Given the description of an element on the screen output the (x, y) to click on. 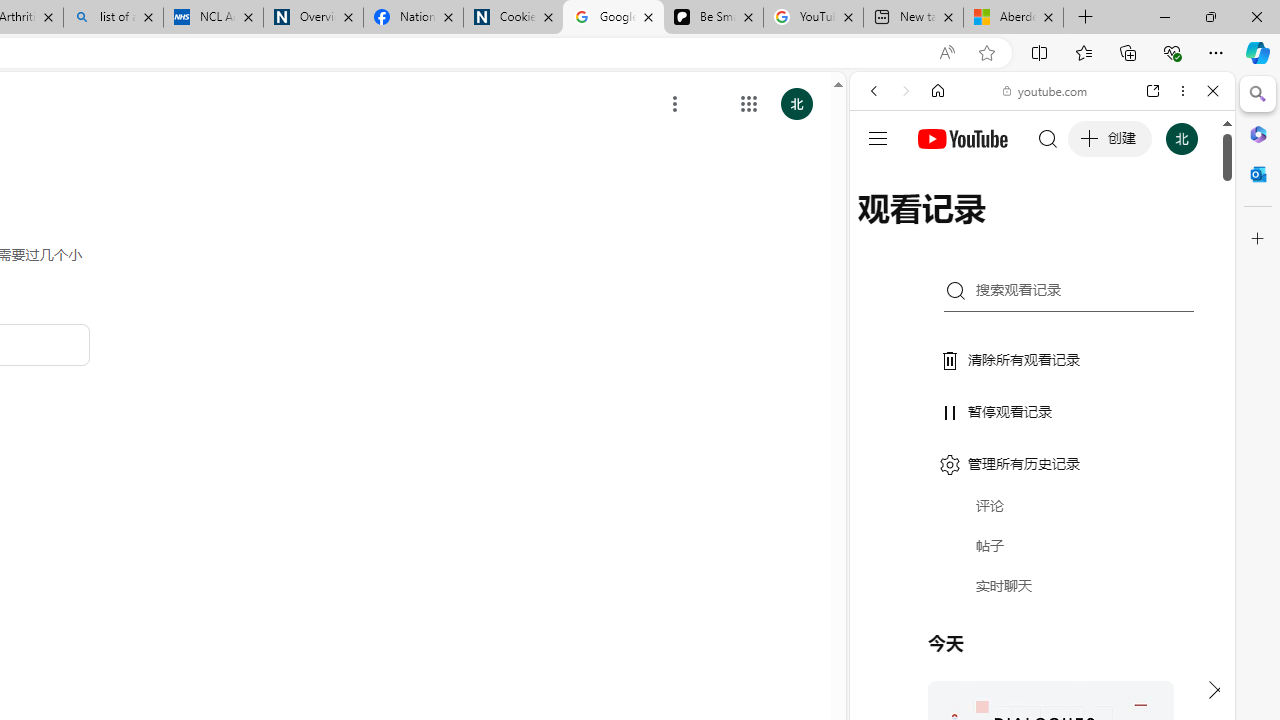
Trailer #2 [HD] (1042, 594)
Music (1042, 543)
Music (1042, 543)
